Given the description of an element on the screen output the (x, y) to click on. 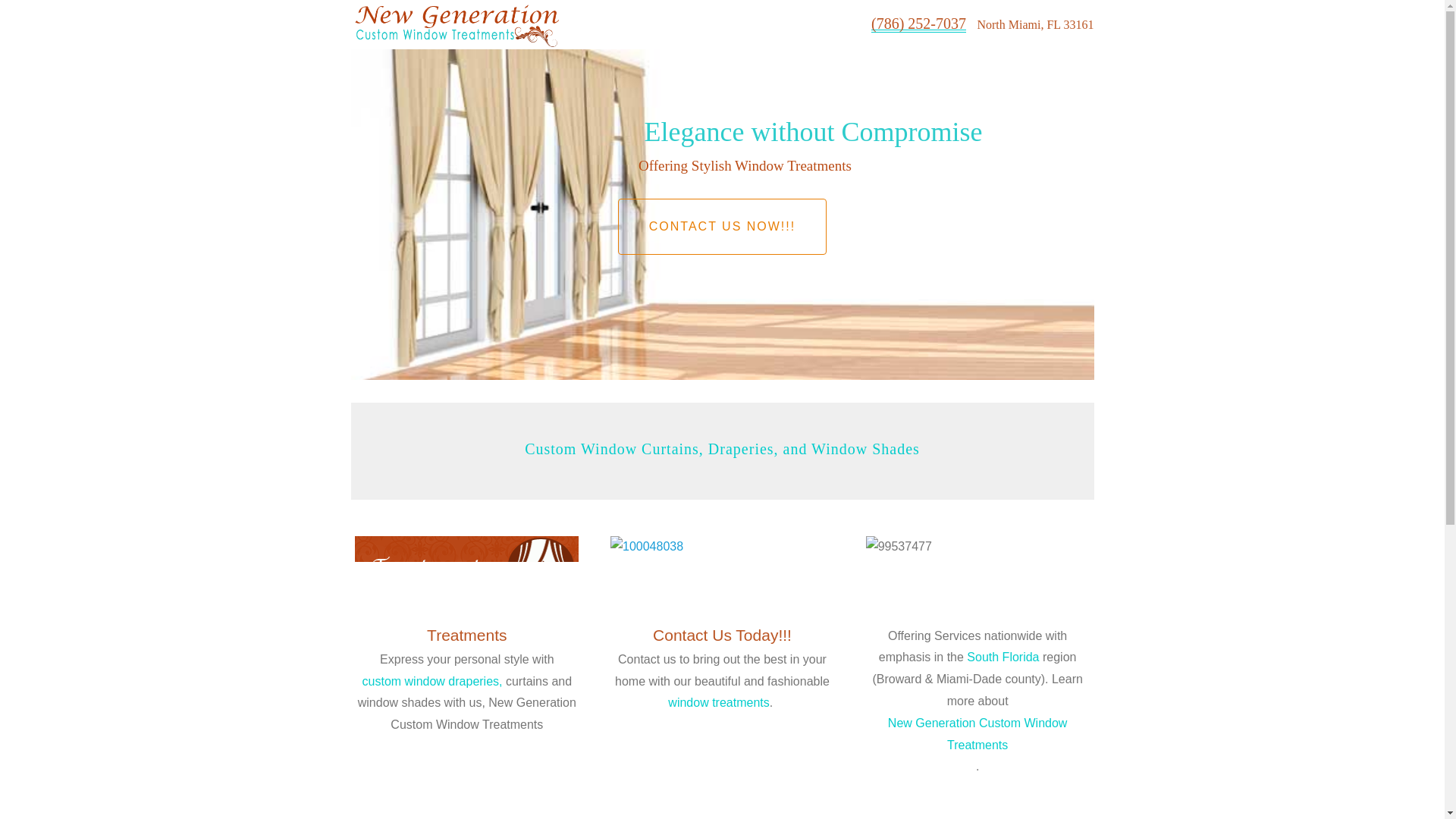
South Florida (1002, 656)
About (650, 14)
Contact Us (613, 33)
window treatments (718, 702)
North Miami, FL 33161 (1034, 24)
Home (600, 14)
New Generation Custom Window Treatments (977, 733)
Treatments (714, 14)
custom window draperies (430, 680)
CONTACT US NOW!!! (722, 226)
